Given the description of an element on the screen output the (x, y) to click on. 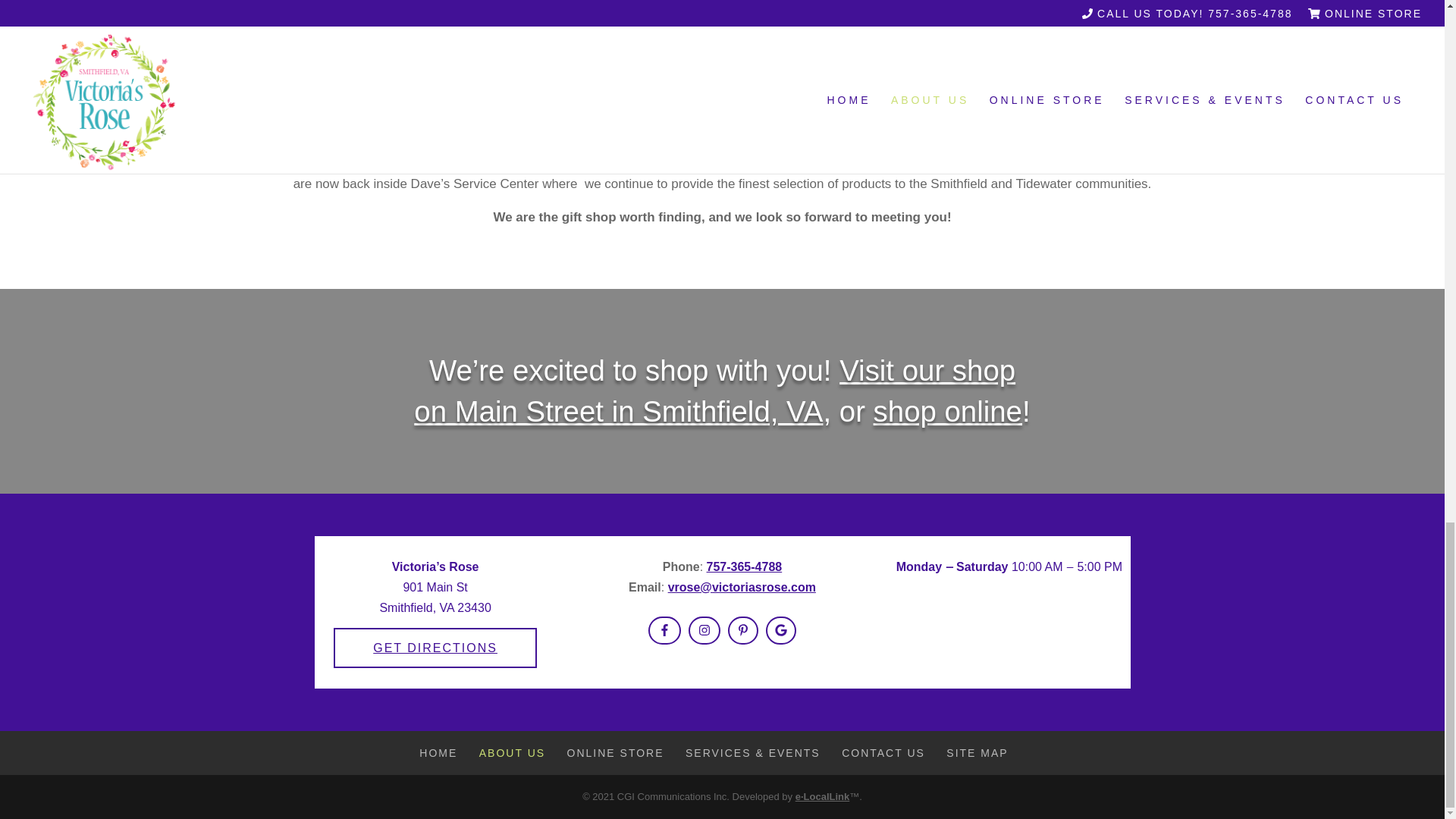
GET DIRECTIONS (435, 648)
Visit our shop on Main Street in Smithfield, VA (713, 390)
SITE MAP (976, 752)
ABOUT US (511, 752)
CONTACT US (882, 752)
ONLINE STORE (615, 752)
HOME (438, 752)
shop online (947, 410)
757-365-4788 (744, 566)
